Given the description of an element on the screen output the (x, y) to click on. 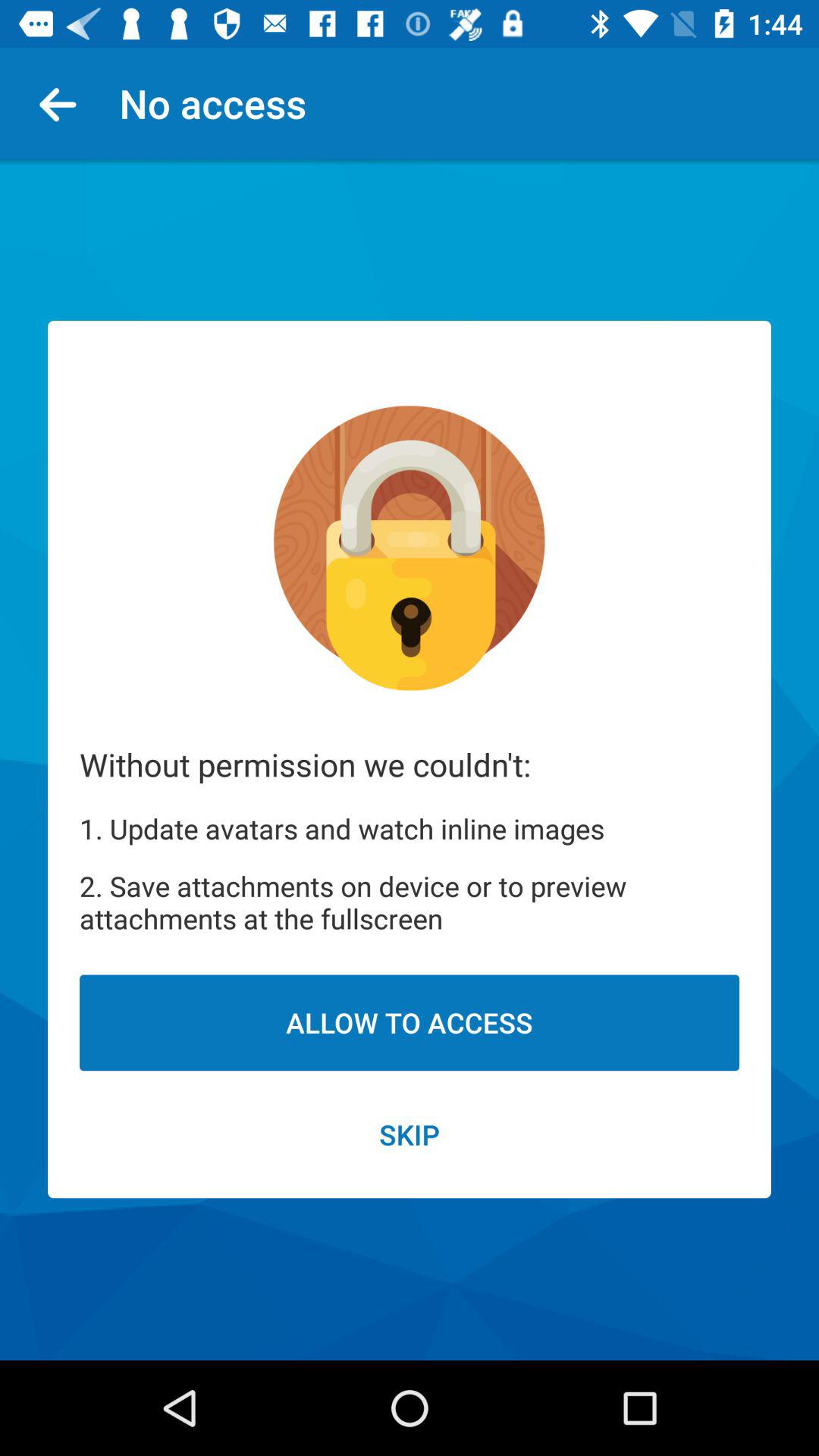
click icon below the allow to access (409, 1134)
